Given the description of an element on the screen output the (x, y) to click on. 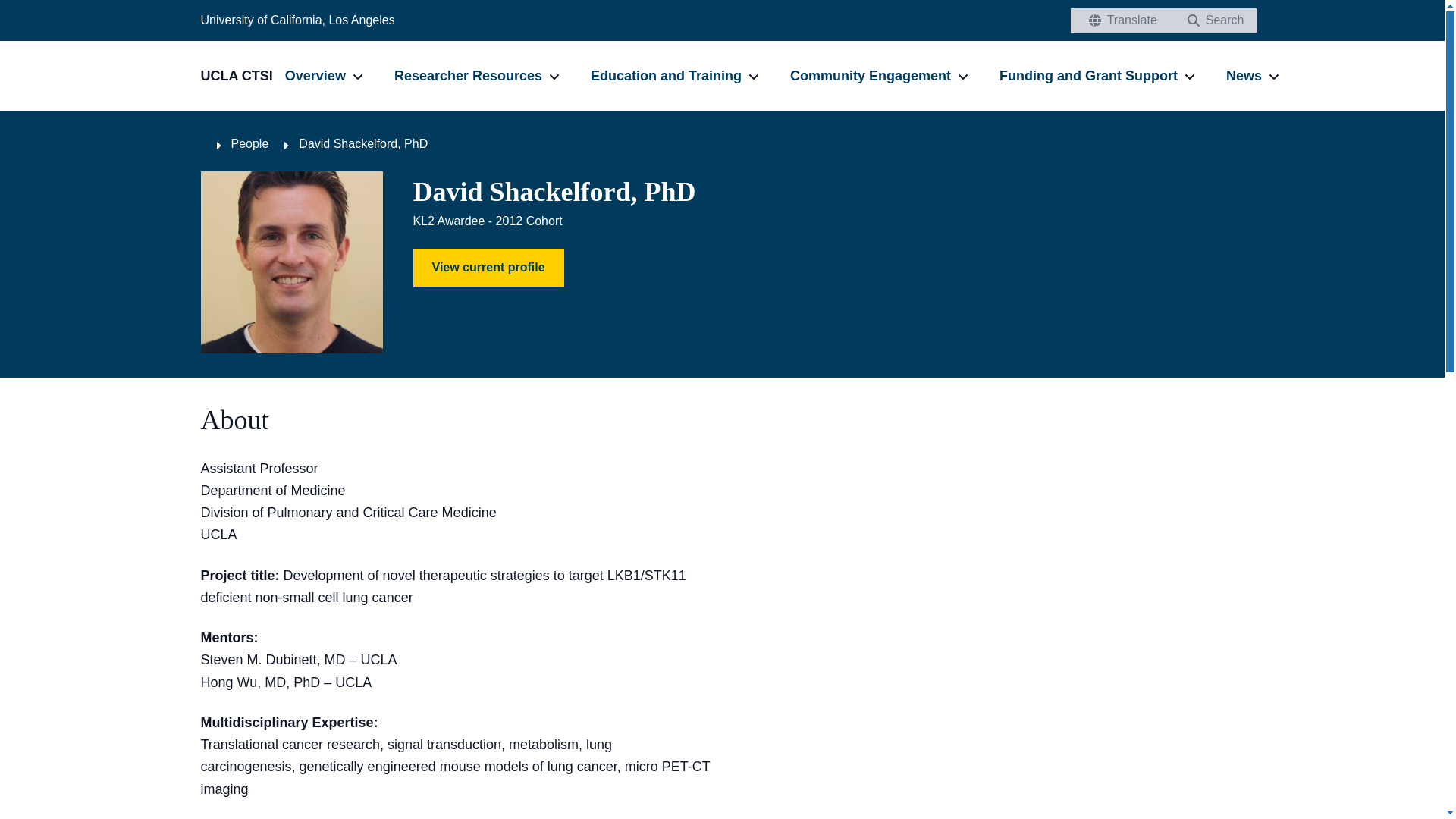
Translate (1119, 20)
Overview sub-navigation (357, 75)
Researcher Resources sub-navigation (553, 75)
Search (1212, 20)
Researcher Resources (467, 74)
University of California, Los Angeles (296, 20)
UCLA CTSI (241, 75)
